Given the description of an element on the screen output the (x, y) to click on. 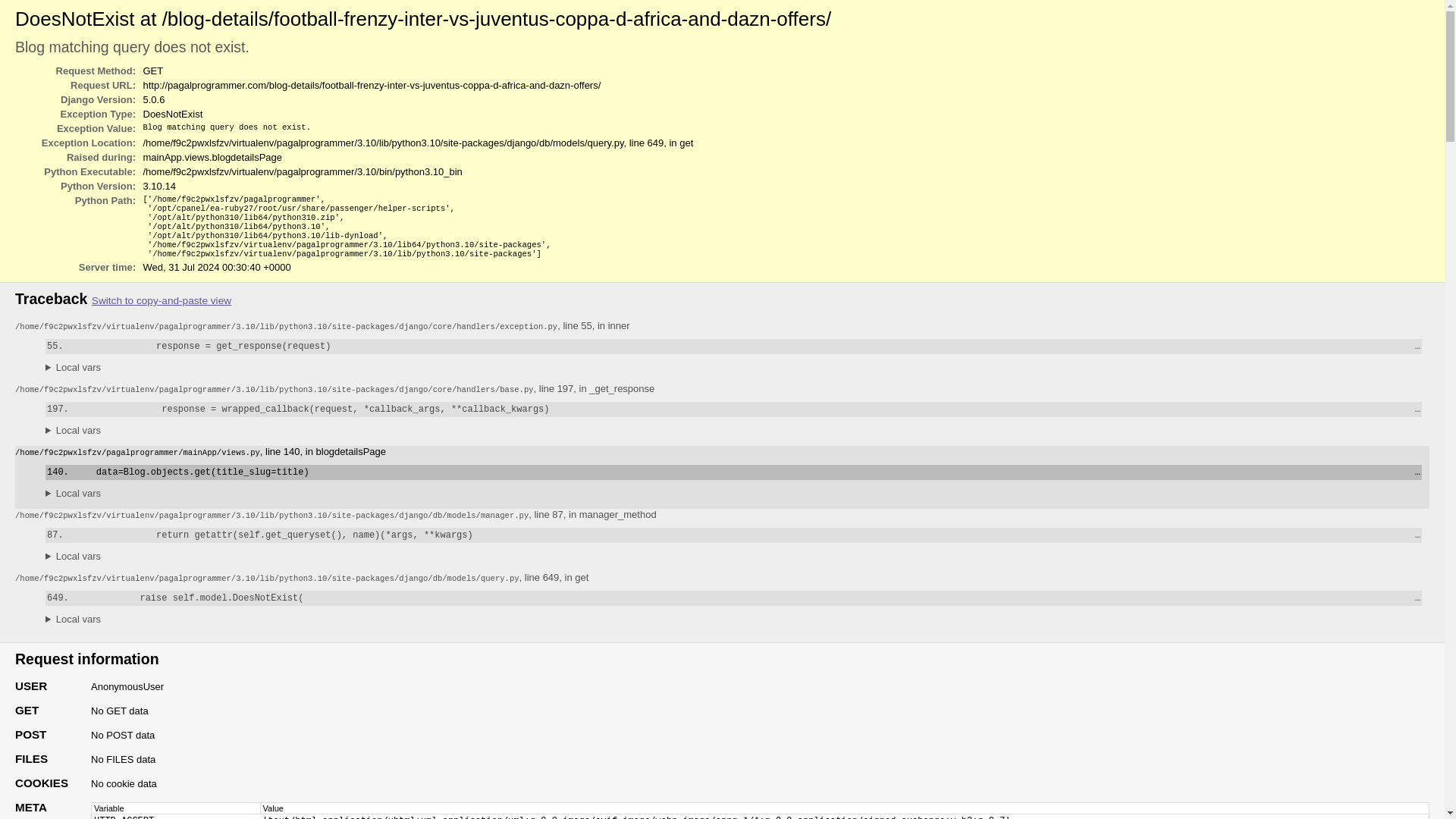
Switch to copy-and-paste view (161, 300)
